Given the description of an element on the screen output the (x, y) to click on. 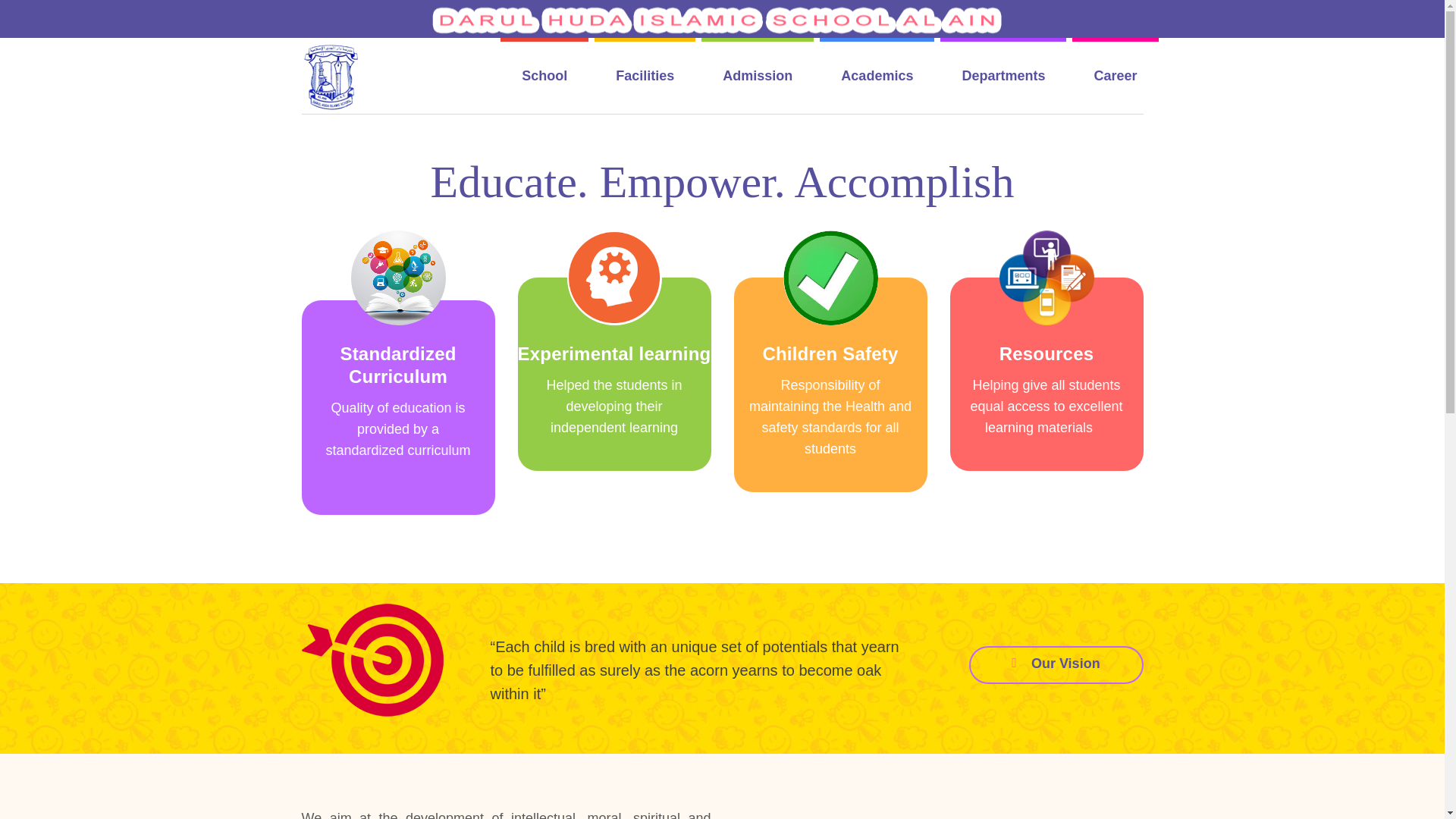
mission1 (388, 662)
Admission (757, 75)
carri (397, 277)
safty (830, 277)
Academics (876, 75)
School (544, 75)
Facilities (644, 75)
experiment (614, 277)
carri (1046, 277)
Departments (1002, 75)
Darul Huda Islamic School , Best School in Alain (332, 75)
